Given the description of an element on the screen output the (x, y) to click on. 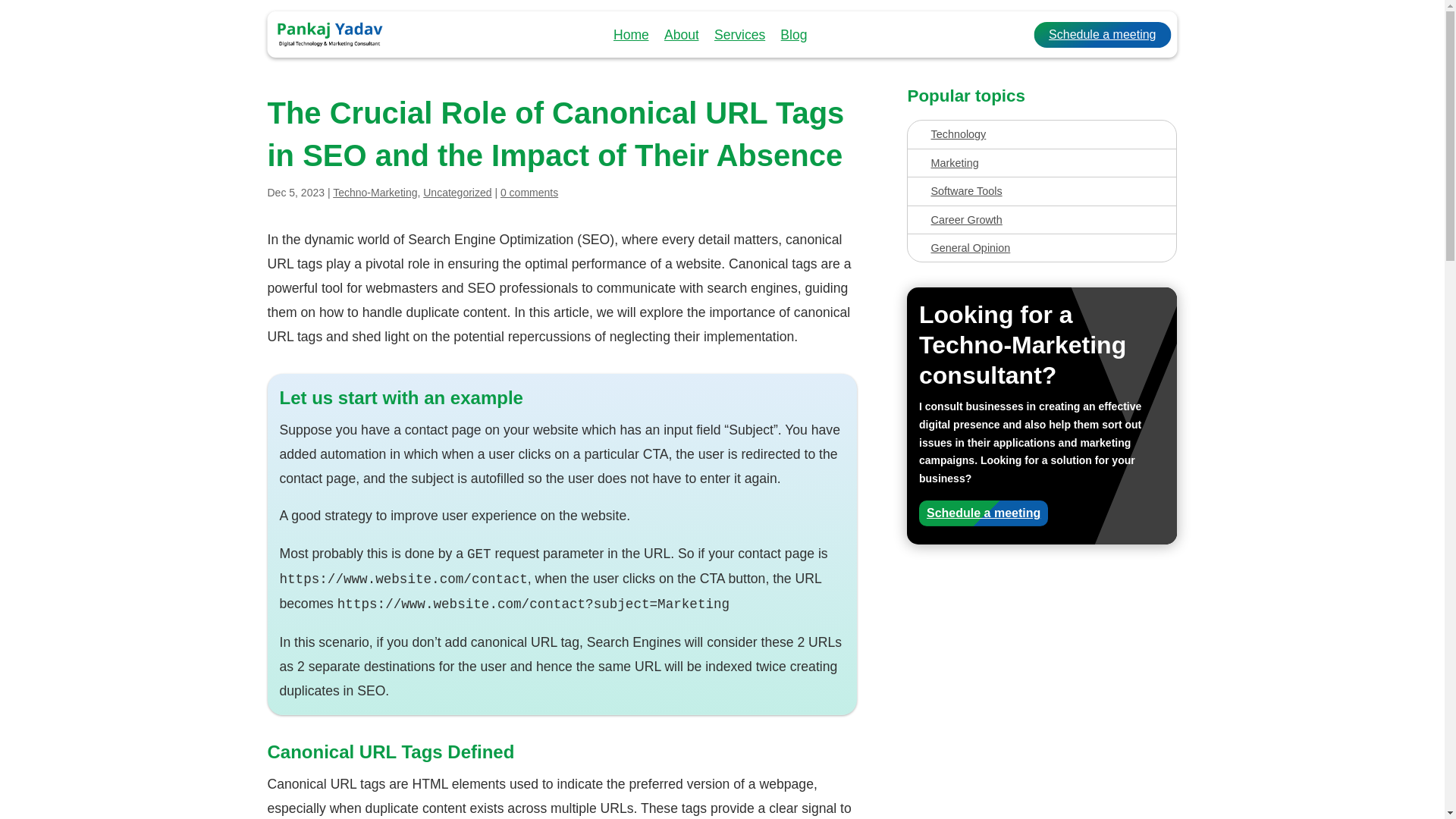
Techno-Marketing (374, 192)
About (680, 35)
General Opinion (1041, 247)
0 comments (528, 192)
Marketing (1041, 162)
Services (739, 35)
Uncategorized (457, 192)
Schedule a meeting (1101, 34)
Blog (793, 35)
Home (630, 35)
Schedule a meeting (983, 513)
Technology (1041, 134)
Software Tools (1041, 190)
Career Growth (1041, 219)
